Given the description of an element on the screen output the (x, y) to click on. 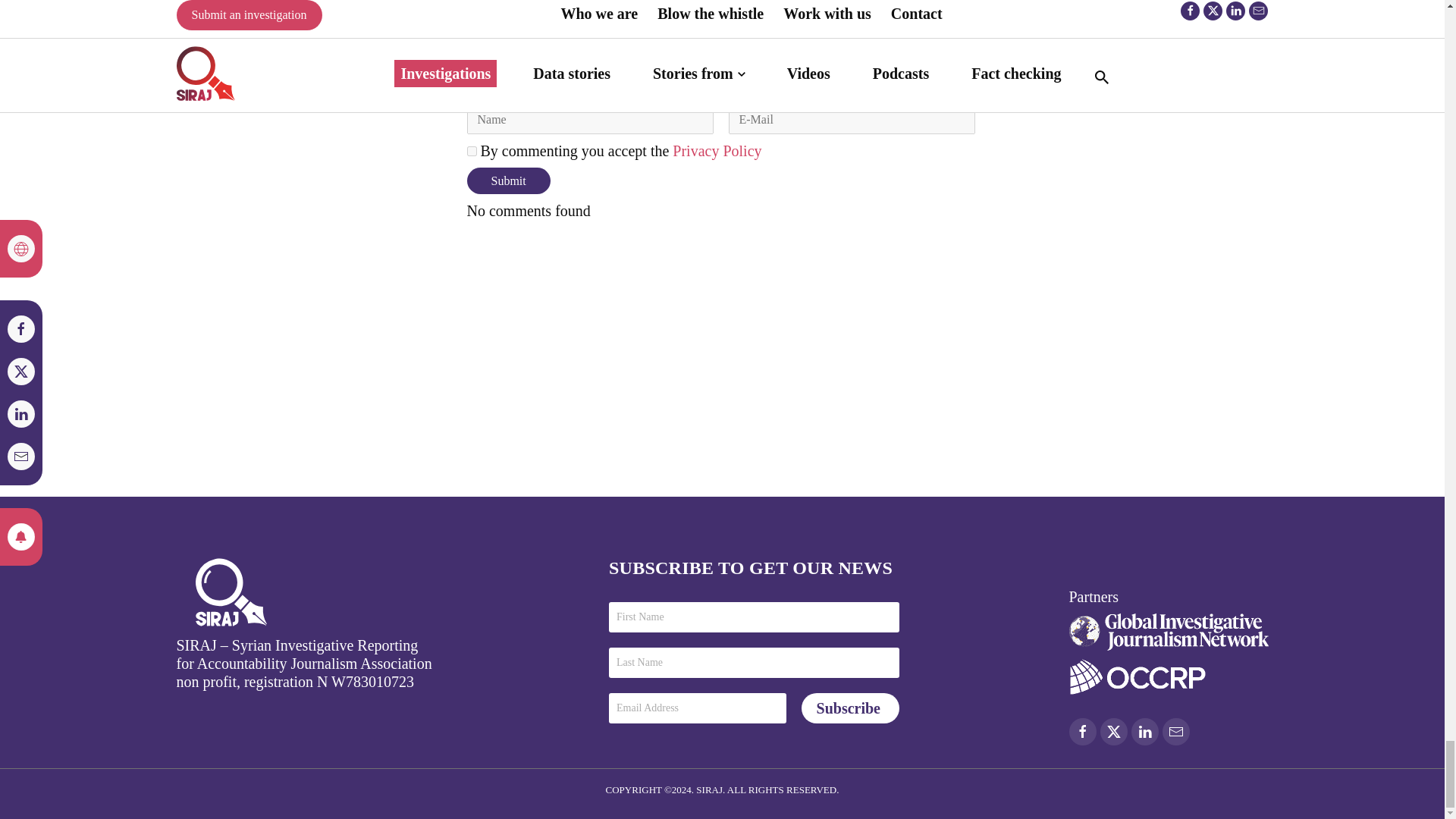
Subscribe  (850, 707)
Submit (508, 180)
on (472, 151)
